Given the description of an element on the screen output the (x, y) to click on. 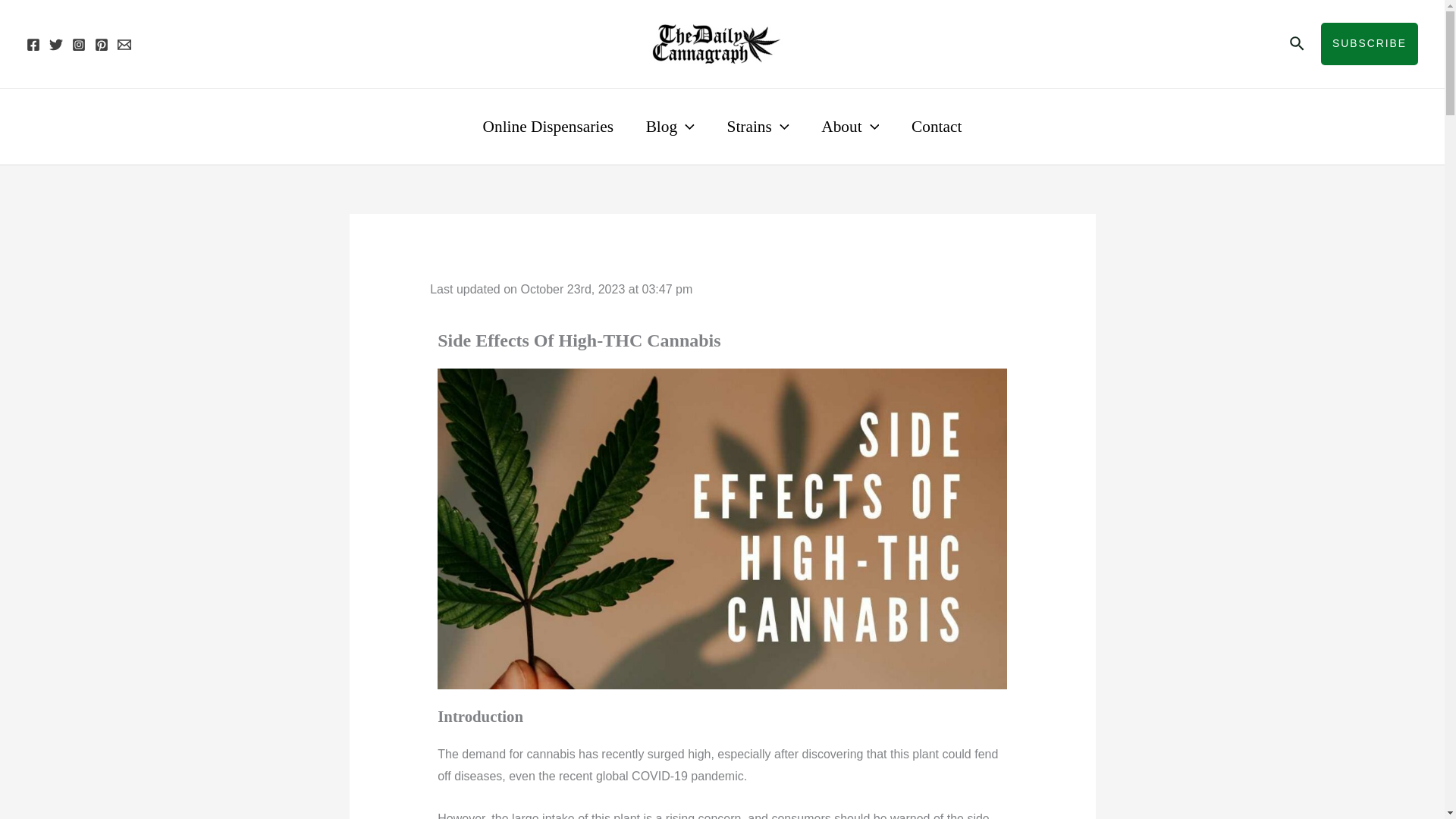
Contact (936, 126)
Online Dispensaries (546, 126)
Strains (757, 126)
Blog (669, 126)
About (850, 126)
SUBSCRIBE (1369, 43)
